Given the description of an element on the screen output the (x, y) to click on. 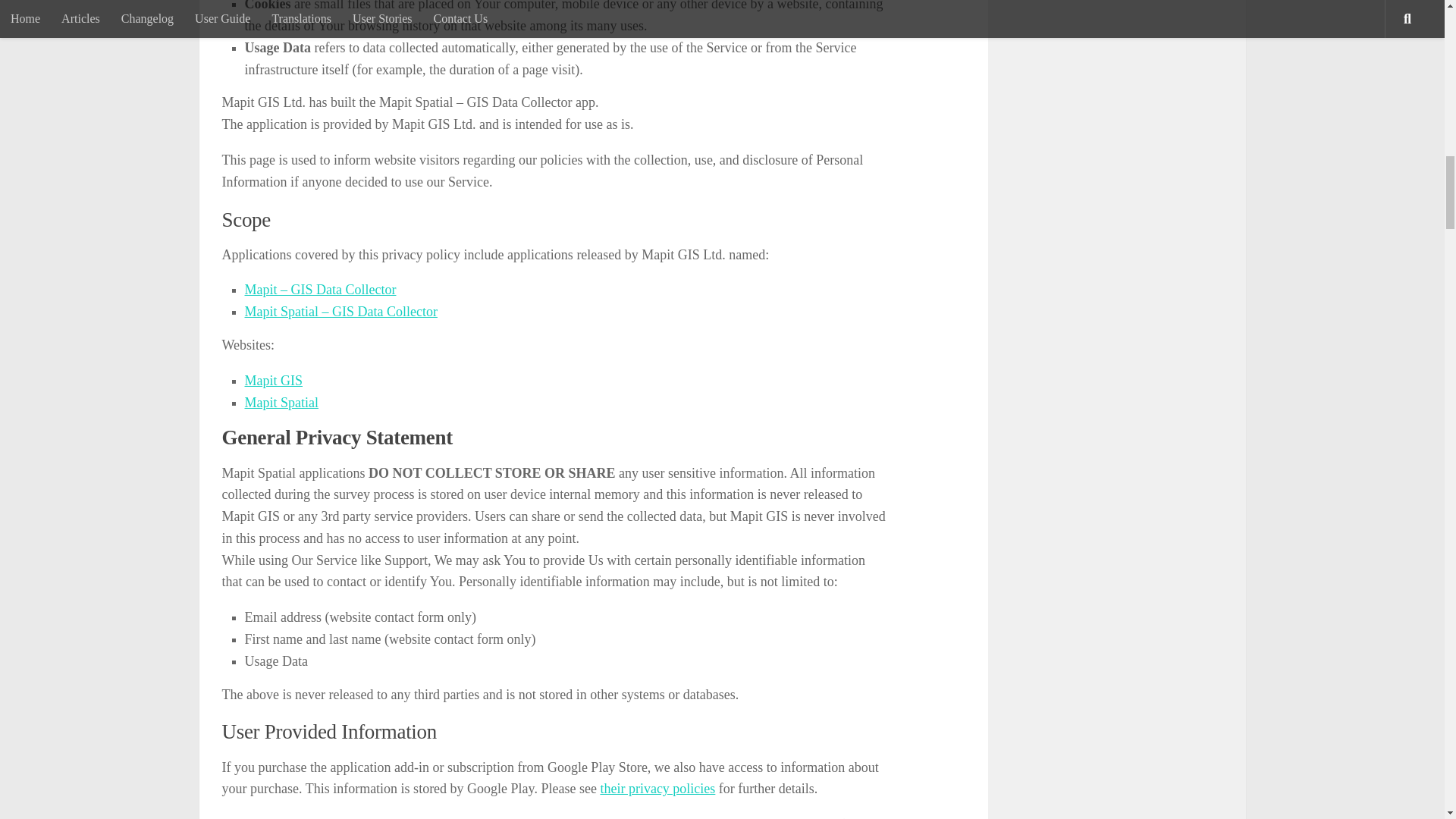
Mapit GIS (273, 380)
Mapit Spatial (281, 402)
their privacy policies (656, 788)
